Given the description of an element on the screen output the (x, y) to click on. 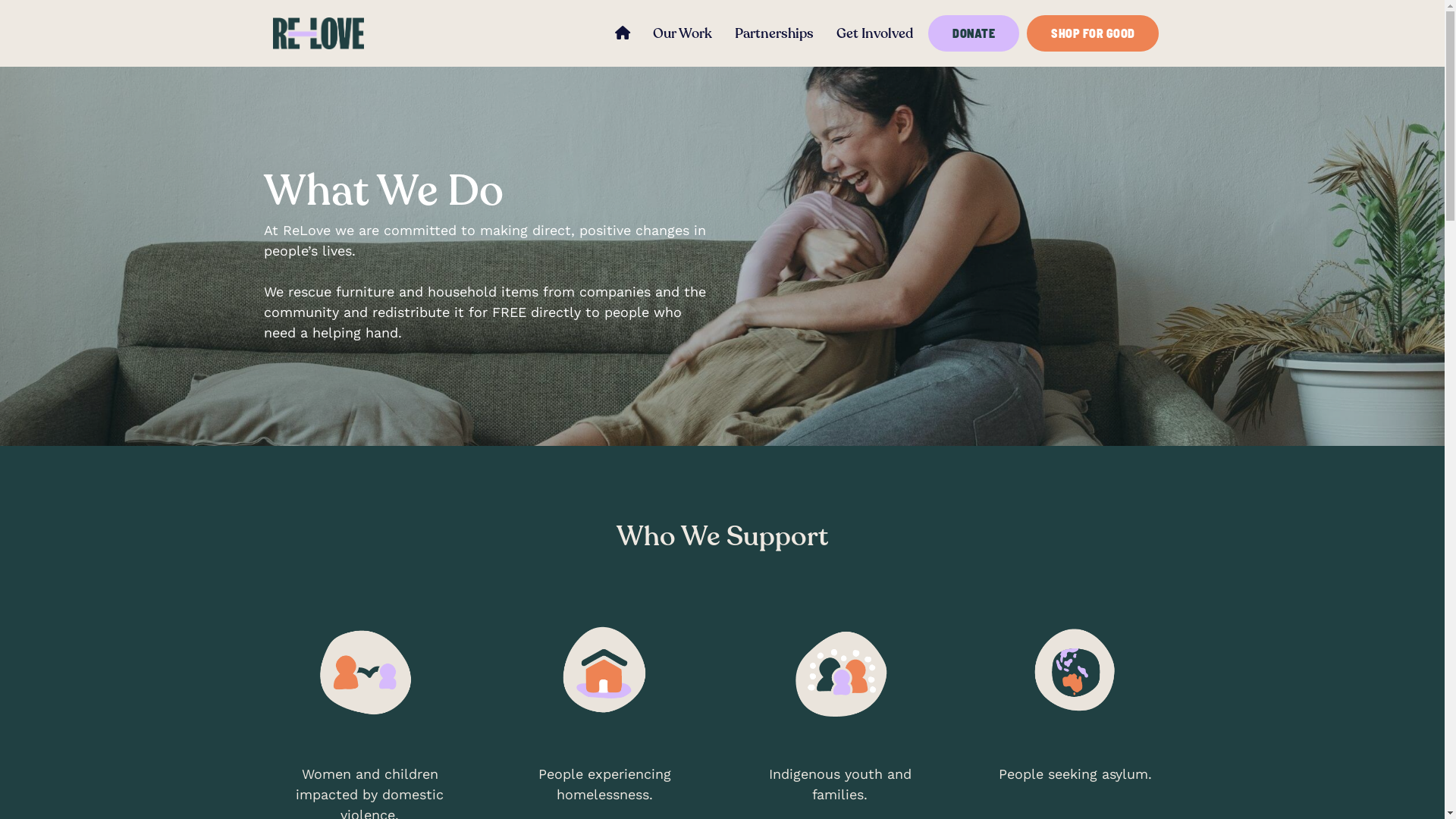
Get Involved Element type: text (874, 33)
DONATE Element type: text (973, 33)
Partnerships Element type: text (774, 33)
Our Work Element type: text (682, 33)
Asylum seeker Element type: hover (1075, 671)
SHOP FOR GOOD Element type: text (1092, 33)
